Given the description of an element on the screen output the (x, y) to click on. 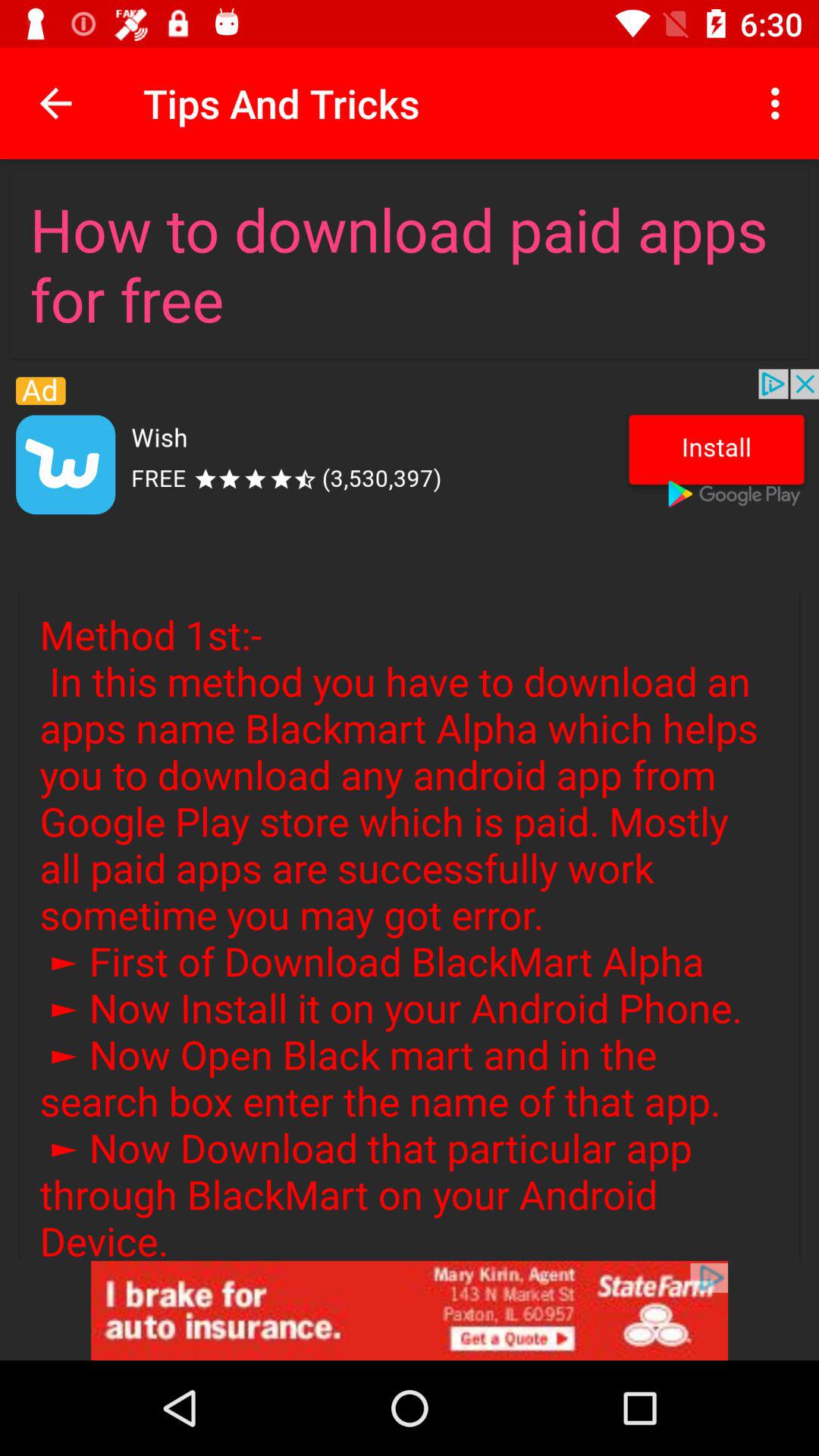
install app (409, 448)
